Given the description of an element on the screen output the (x, y) to click on. 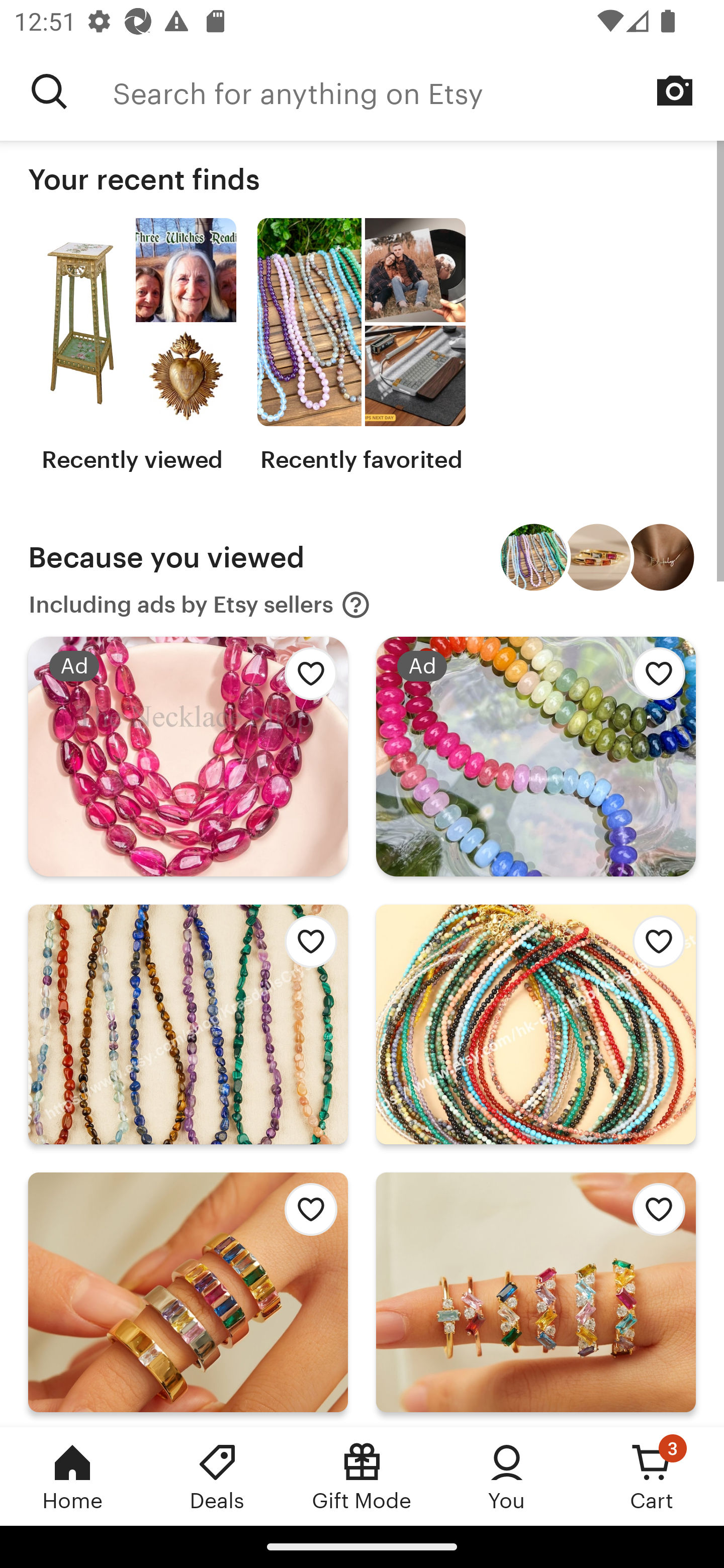
Search for anything on Etsy (49, 91)
Search by image (674, 90)
Search for anything on Etsy (418, 91)
Recently viewed (132, 345)
Recently favorited (361, 345)
Including ads by Etsy sellers (199, 604)
Deals (216, 1475)
Gift Mode (361, 1475)
You (506, 1475)
Cart, 3 new notifications Cart (651, 1475)
